Given the description of an element on the screen output the (x, y) to click on. 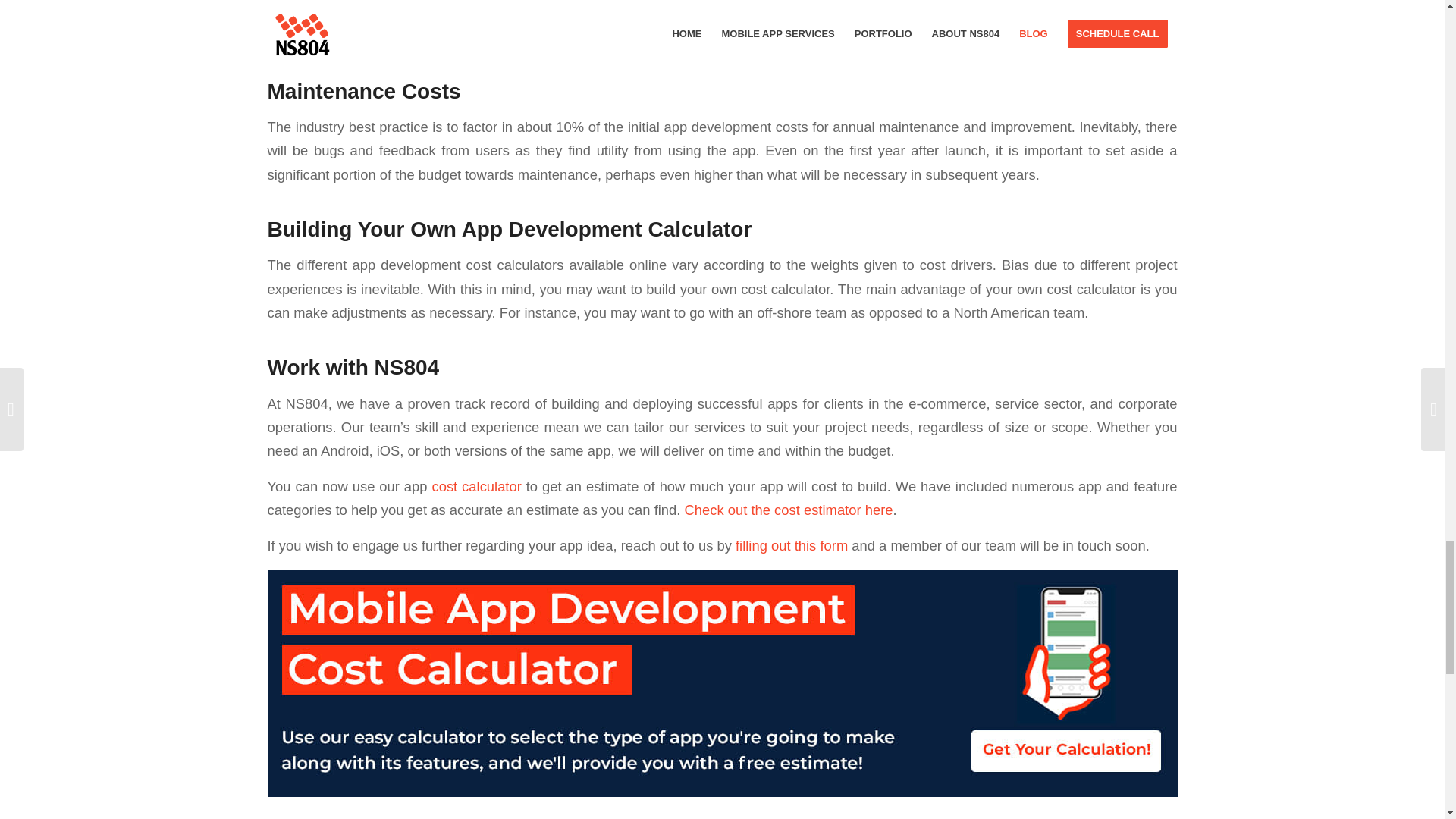
filling out this form (791, 545)
Check out the cost estimator here (788, 509)
cost calculator (475, 486)
